Given the description of an element on the screen output the (x, y) to click on. 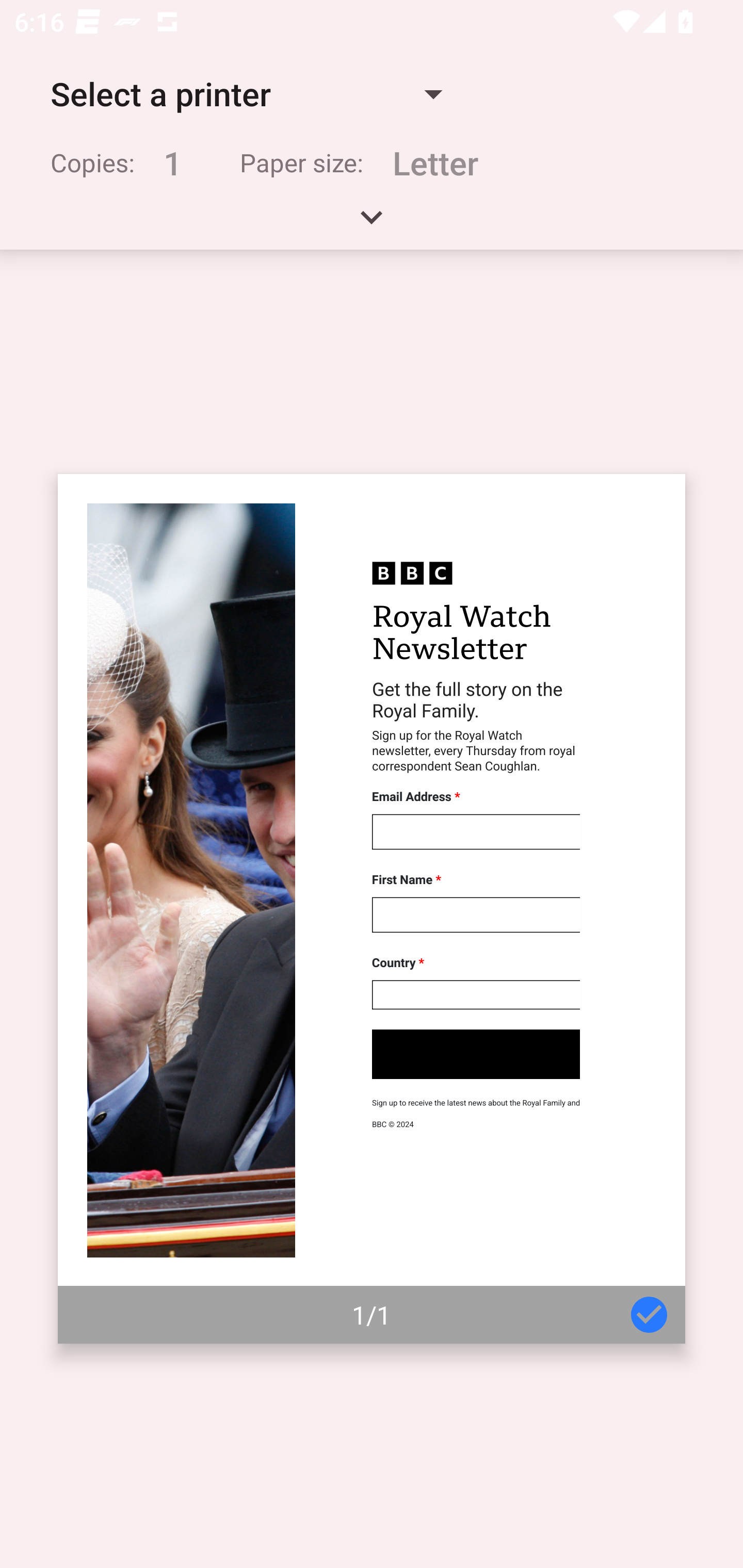
Select a printer (245, 93)
Expand handle (371, 224)
Page 1 of 1 1/1 (371, 908)
